Given the description of an element on the screen output the (x, y) to click on. 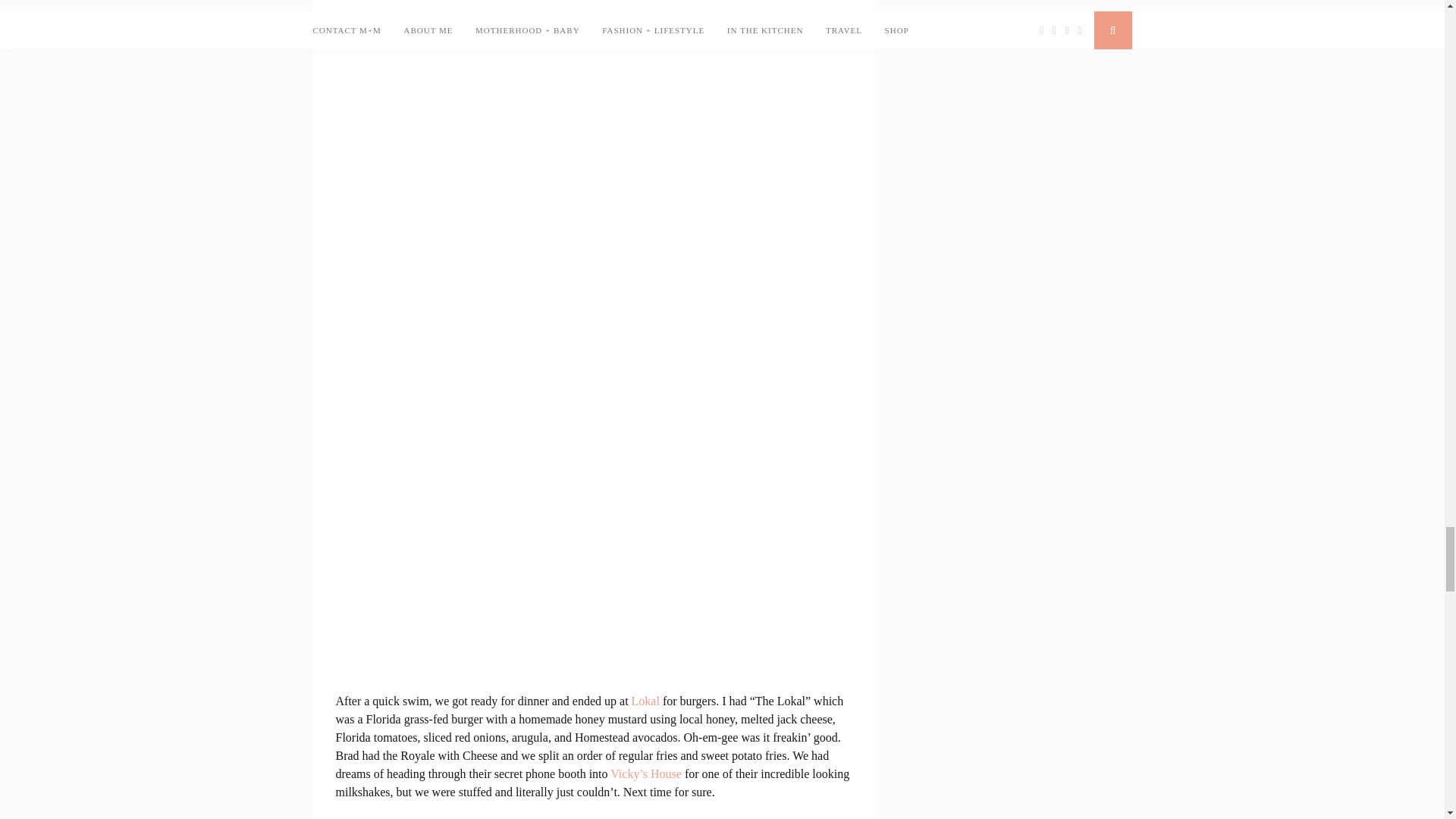
Lokal (645, 700)
